Given the description of an element on the screen output the (x, y) to click on. 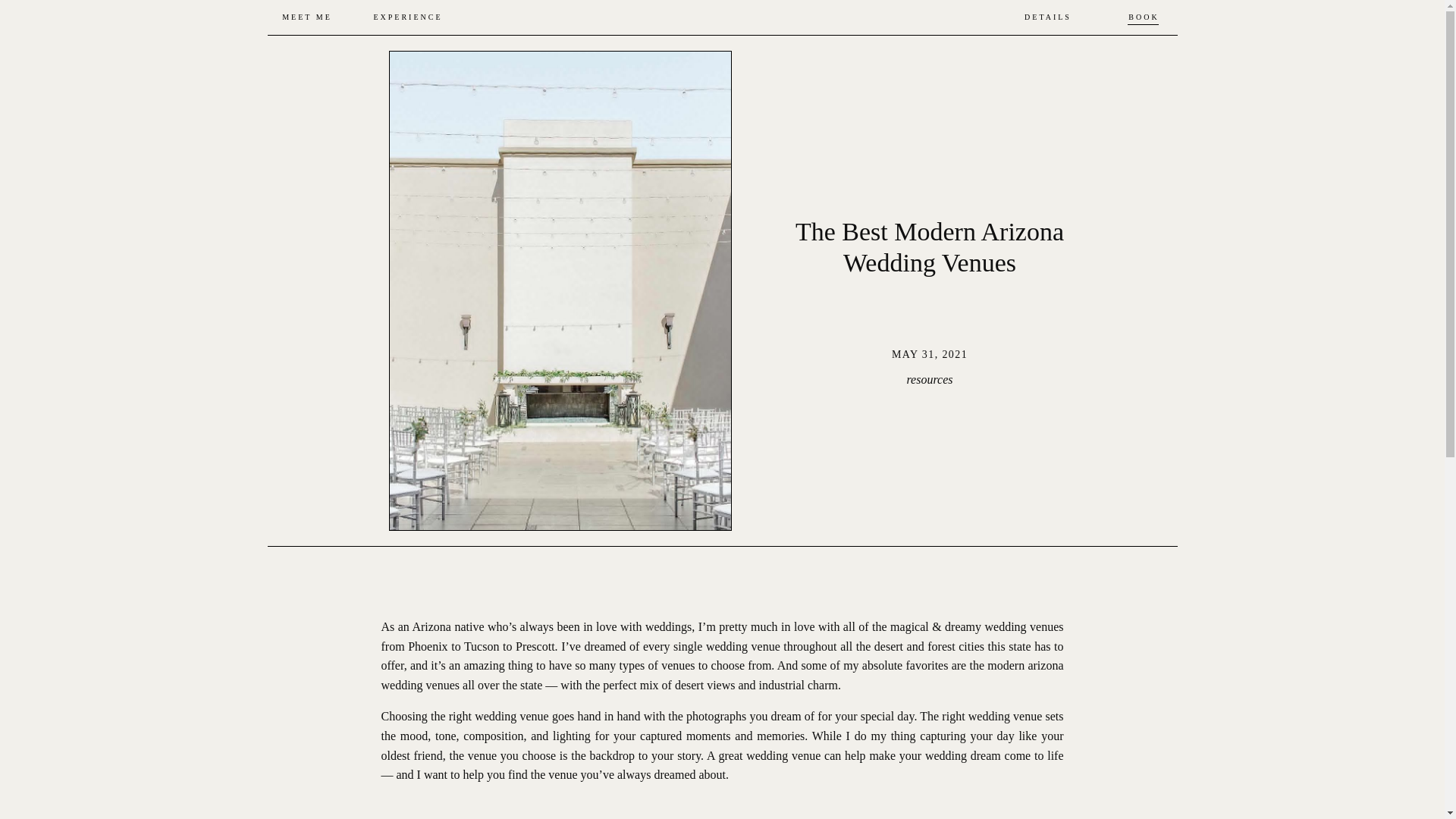
EXPERIENCE (407, 17)
resources (928, 379)
MEET ME (307, 17)
BOOK (1143, 17)
DETAILS (1048, 17)
